Given the description of an element on the screen output the (x, y) to click on. 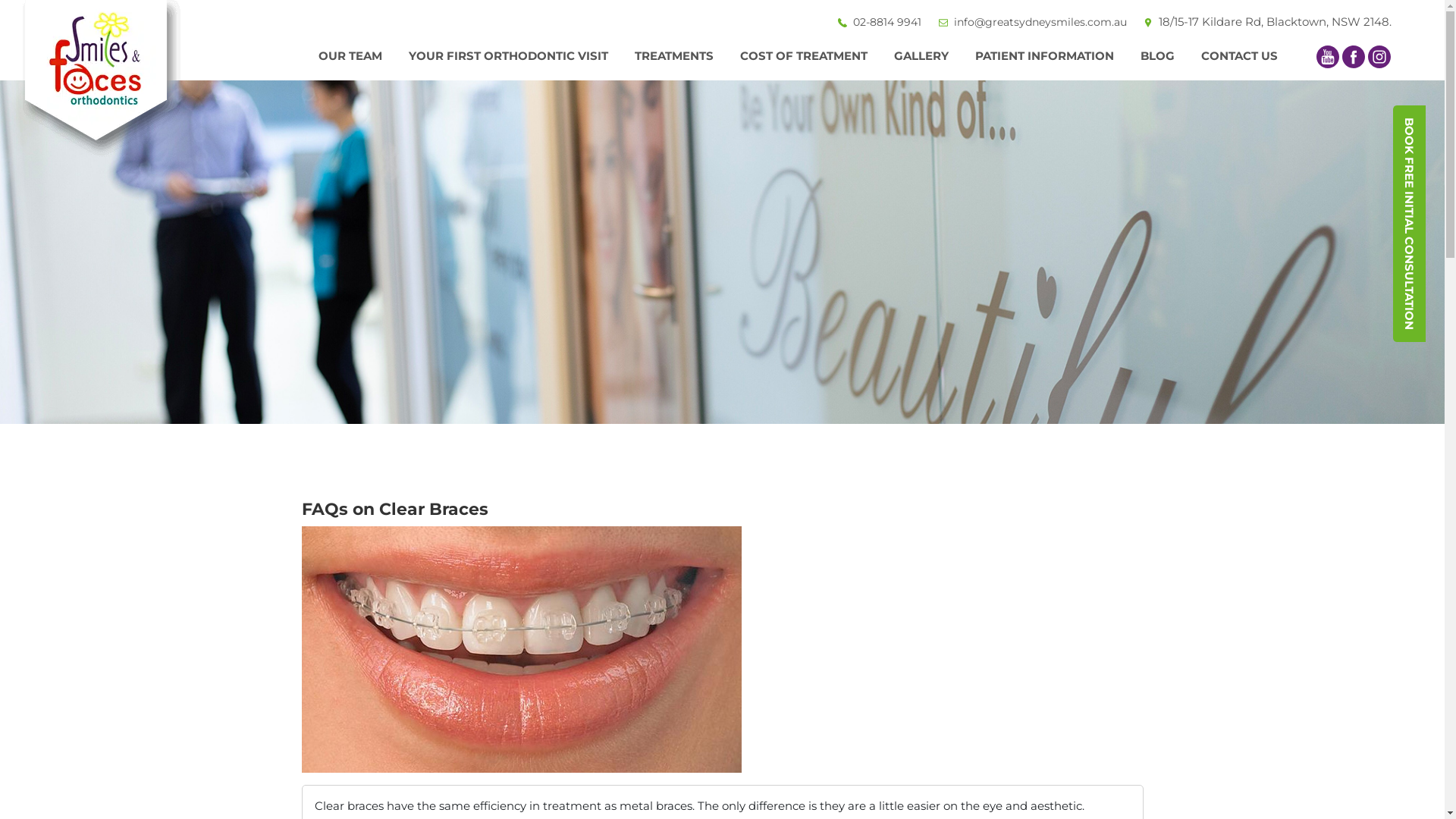
YOUR FIRST ORTHODONTIC VISIT Element type: text (508, 55)
info@greatsydneysmiles.com.au Element type: text (1029, 21)
TREATMENTS Element type: text (673, 55)
COST OF TREATMENT Element type: text (803, 55)
BLOG Element type: text (1157, 55)
PATIENT INFORMATION Element type: text (1044, 55)
GALLERY Element type: text (921, 55)
OUR TEAM Element type: text (350, 55)
02-8814 9941 Element type: text (876, 21)
CONTACT US Element type: text (1239, 55)
